Given the description of an element on the screen output the (x, y) to click on. 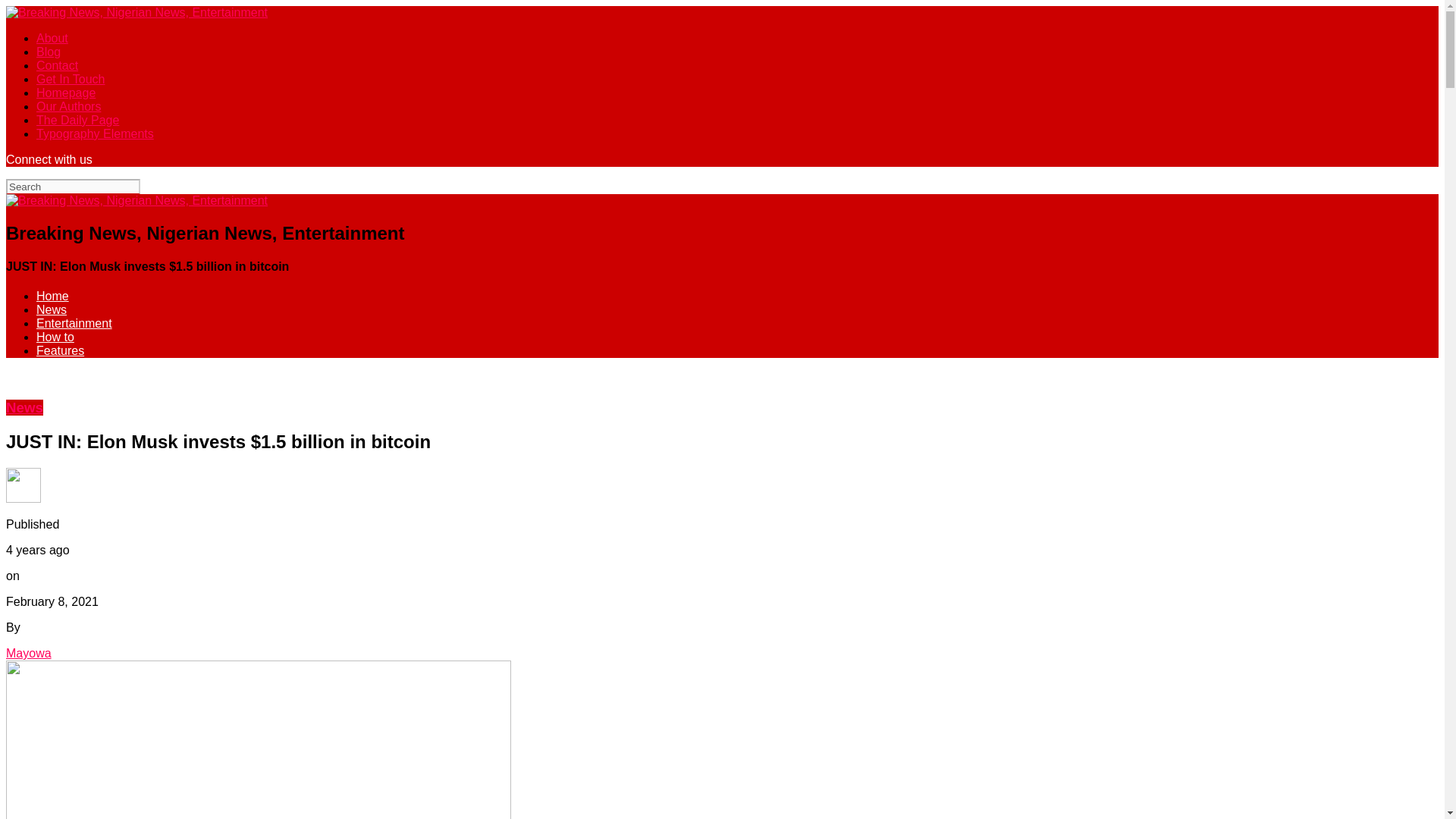
Blog (48, 51)
About (52, 38)
Typography Elements (95, 133)
Homepage (66, 92)
News (51, 309)
Entertainment (74, 323)
Home (52, 295)
How to (55, 336)
Contact (57, 65)
Search (72, 186)
